Given the description of an element on the screen output the (x, y) to click on. 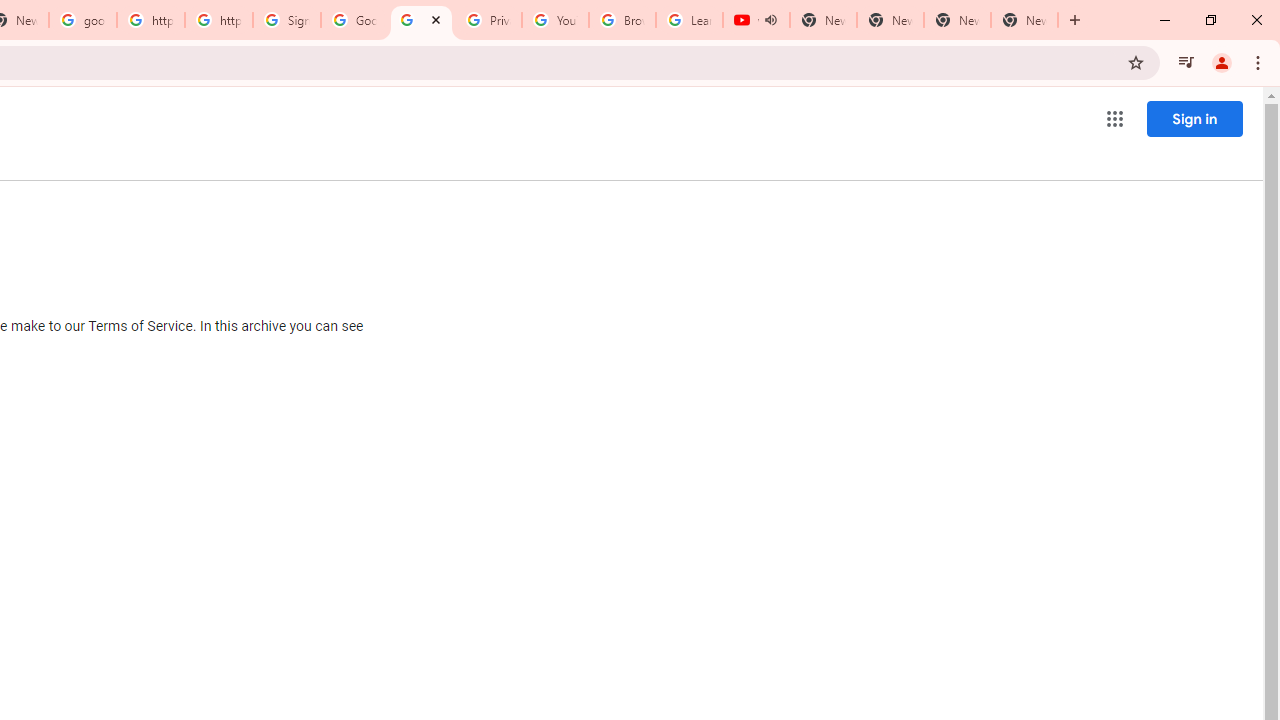
New Tab (1024, 20)
Sign in - Google Accounts (287, 20)
https://scholar.google.com/ (150, 20)
